Given the description of an element on the screen output the (x, y) to click on. 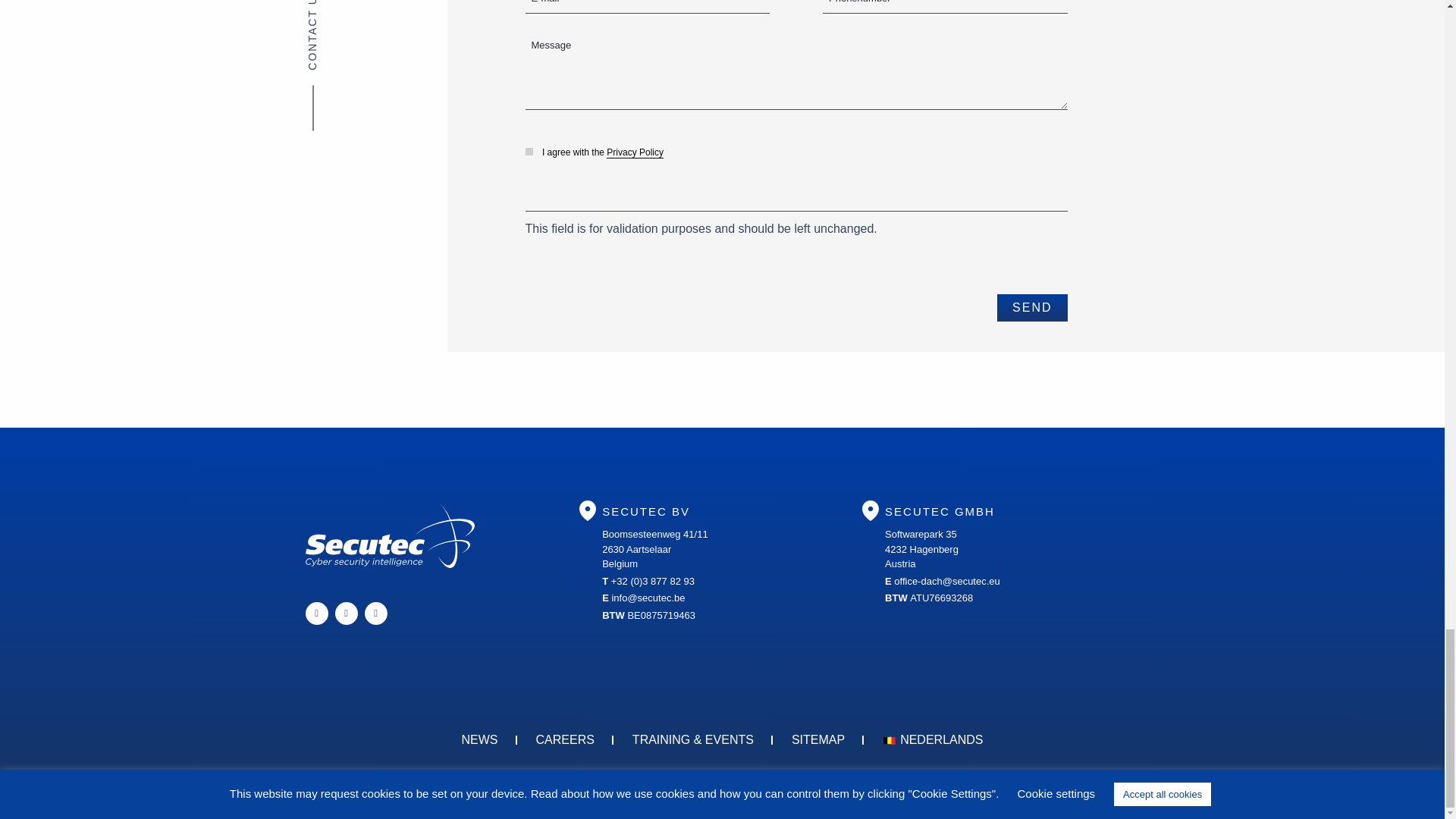
Send (1032, 307)
